Given the description of an element on the screen output the (x, y) to click on. 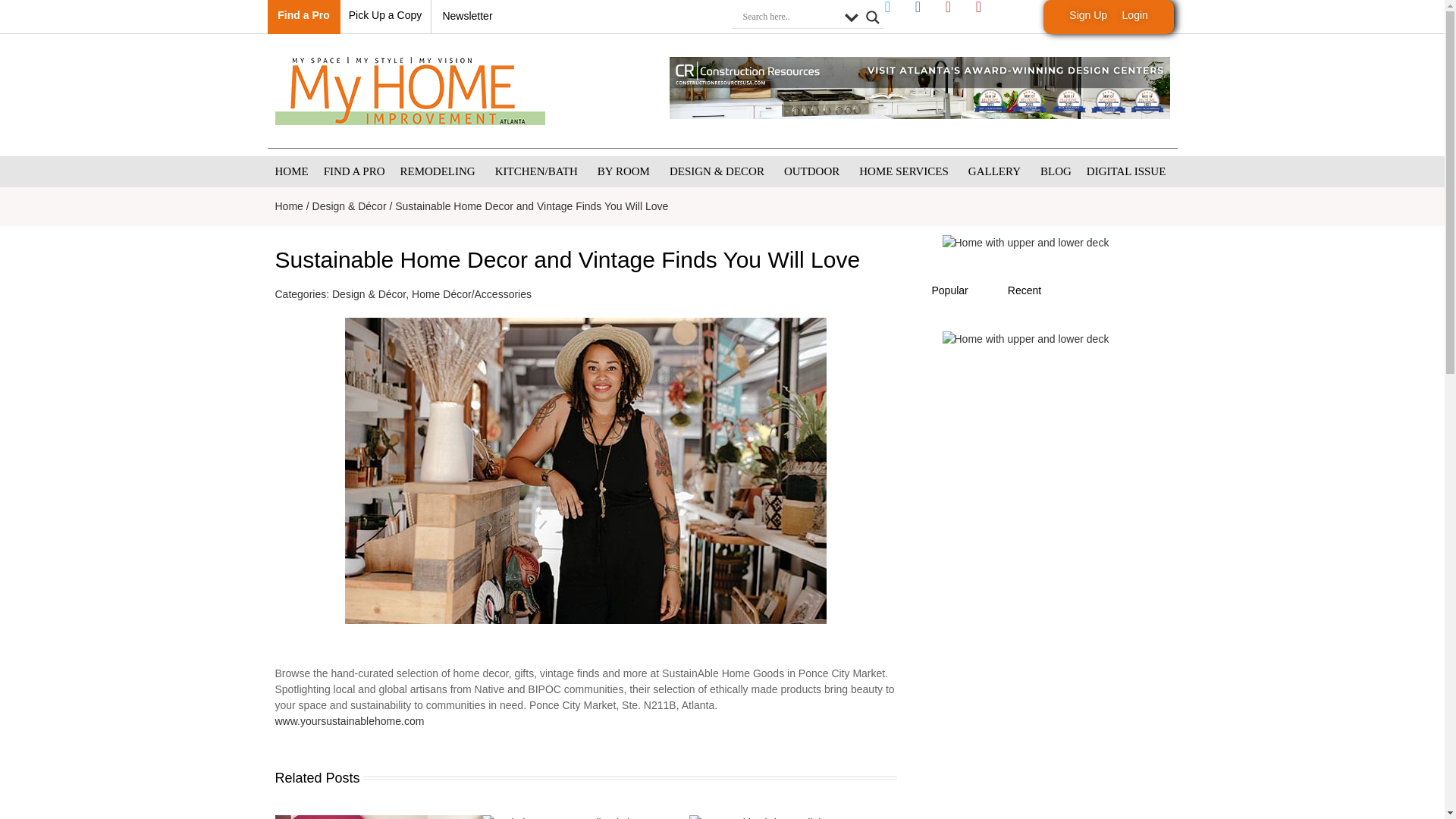
Login (1135, 15)
Newsletter (467, 15)
Find a Pro (303, 15)
Sign Up (1087, 15)
Pick Up a Copy (385, 15)
